Given the description of an element on the screen output the (x, y) to click on. 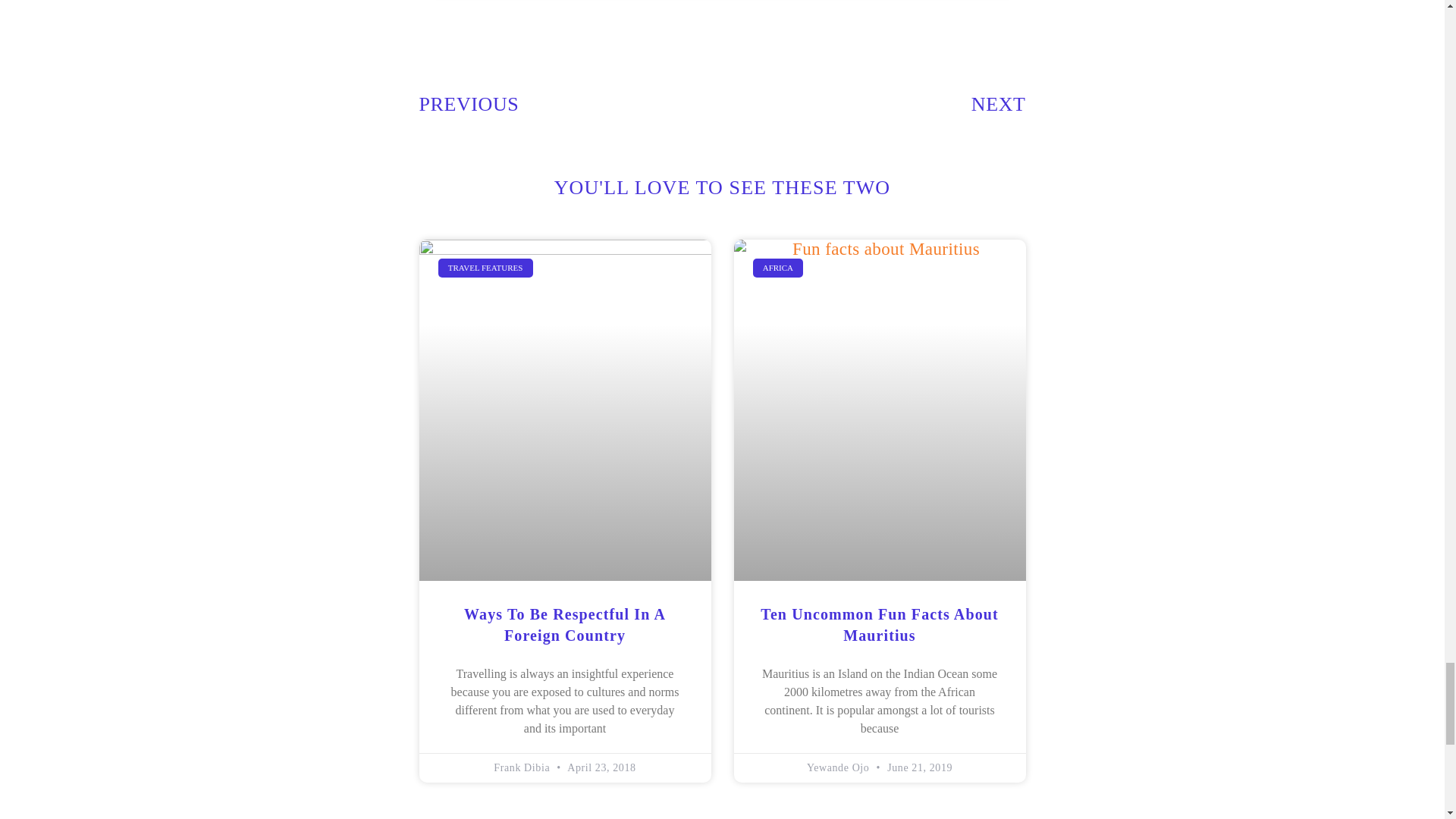
NEXT (998, 104)
Ways To Be Respectful In A Foreign Country (564, 624)
Ten Uncommon Fun Facts About Mauritius (878, 624)
PREVIOUS (570, 104)
